Given the description of an element on the screen output the (x, y) to click on. 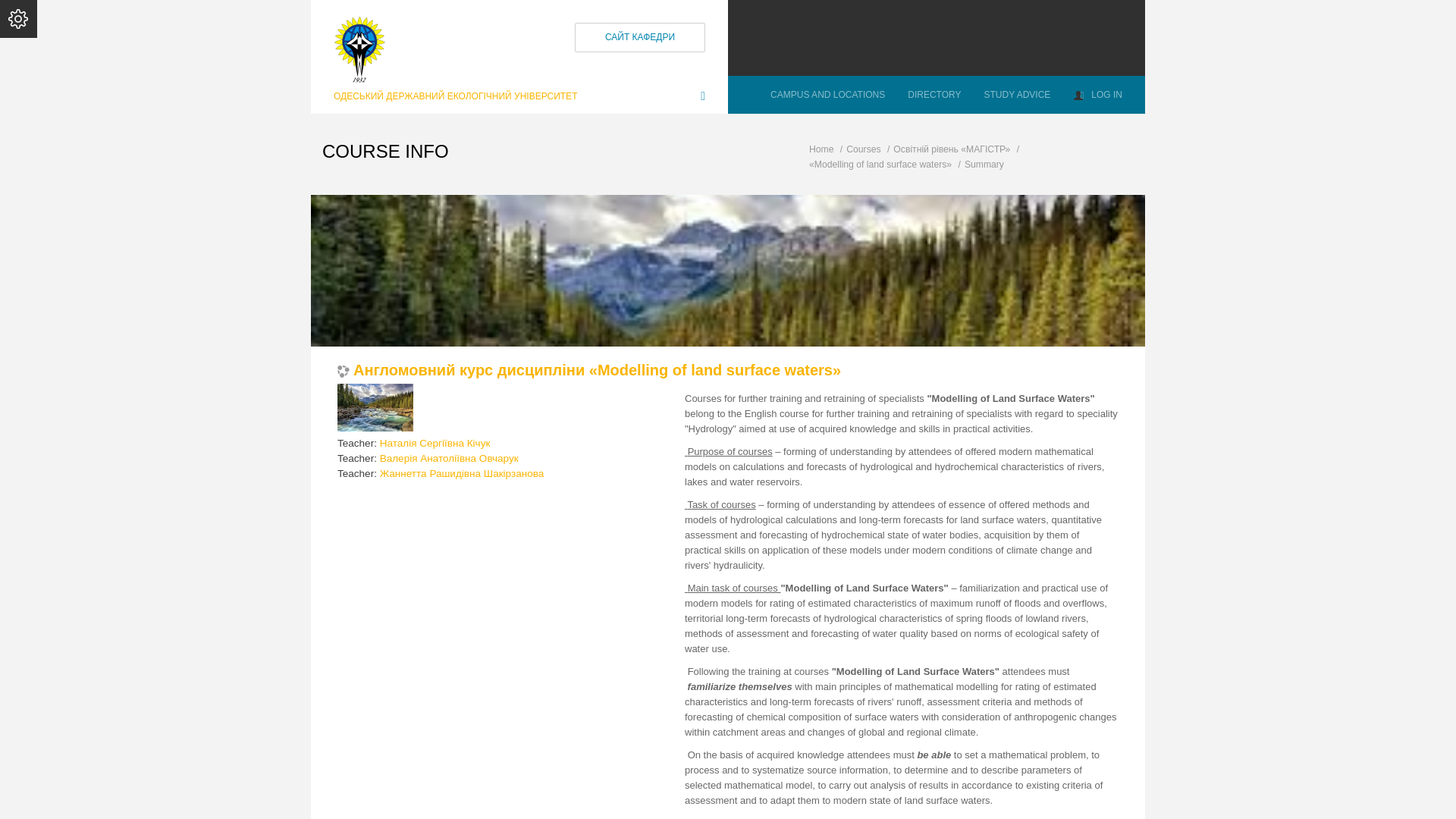
STUDY ADVICE (1016, 94)
Home (820, 149)
Courses (862, 149)
DIRECTORY (934, 94)
Settings (17, 18)
Settings (18, 18)
LOG IN (1097, 94)
CAMPUS AND LOCATIONS (827, 94)
